Given the description of an element on the screen output the (x, y) to click on. 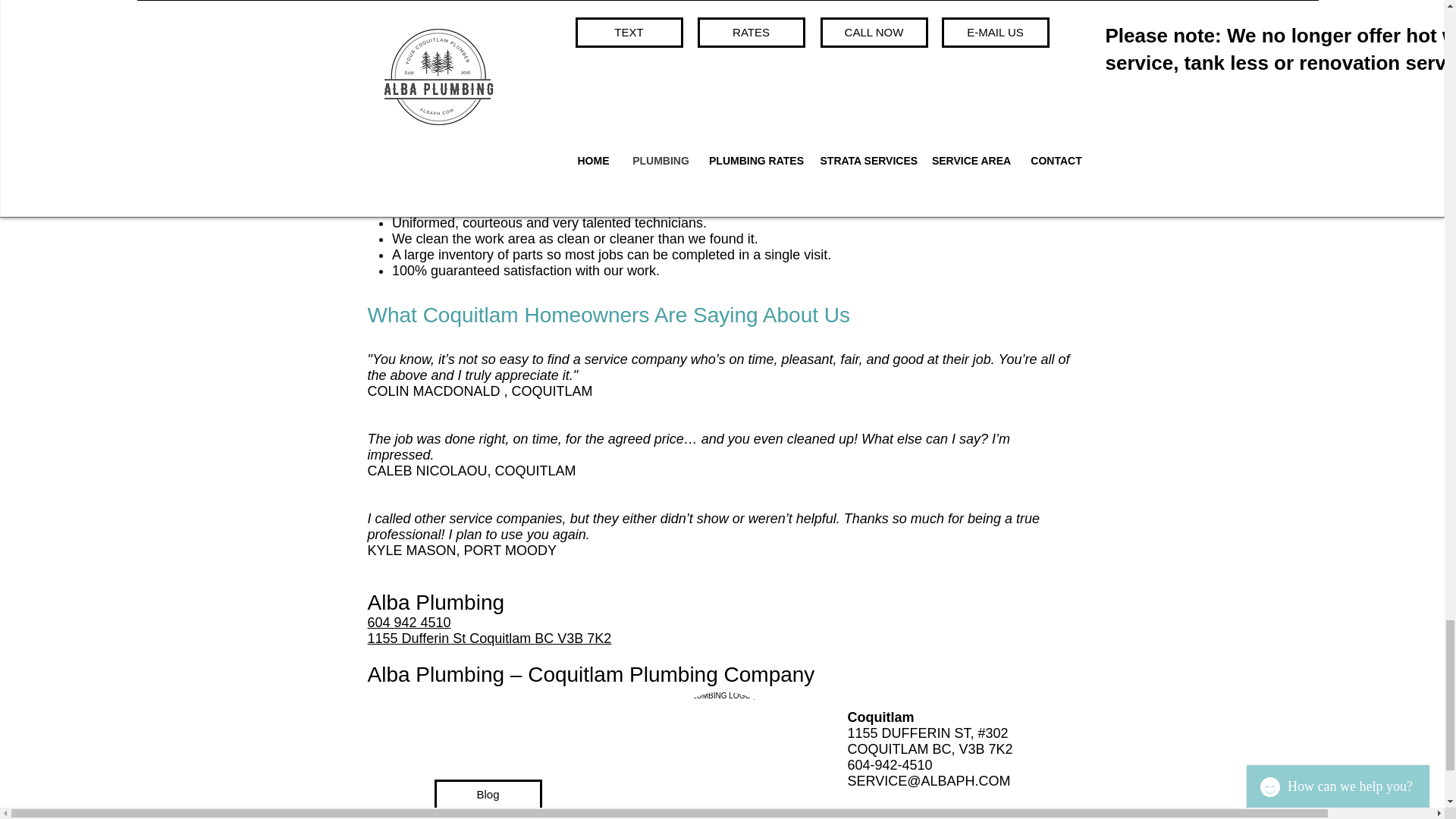
Sump Pumps (432, 62)
Drain Cleaning (436, 3)
Toilets (410, 14)
Faucets (416, 30)
1155 Dufferin St Coquitlam BC V3B 7K2 (488, 638)
Blog (487, 794)
Gas Water Heaters (449, 78)
Garbage Disposals (449, 46)
